Given the description of an element on the screen output the (x, y) to click on. 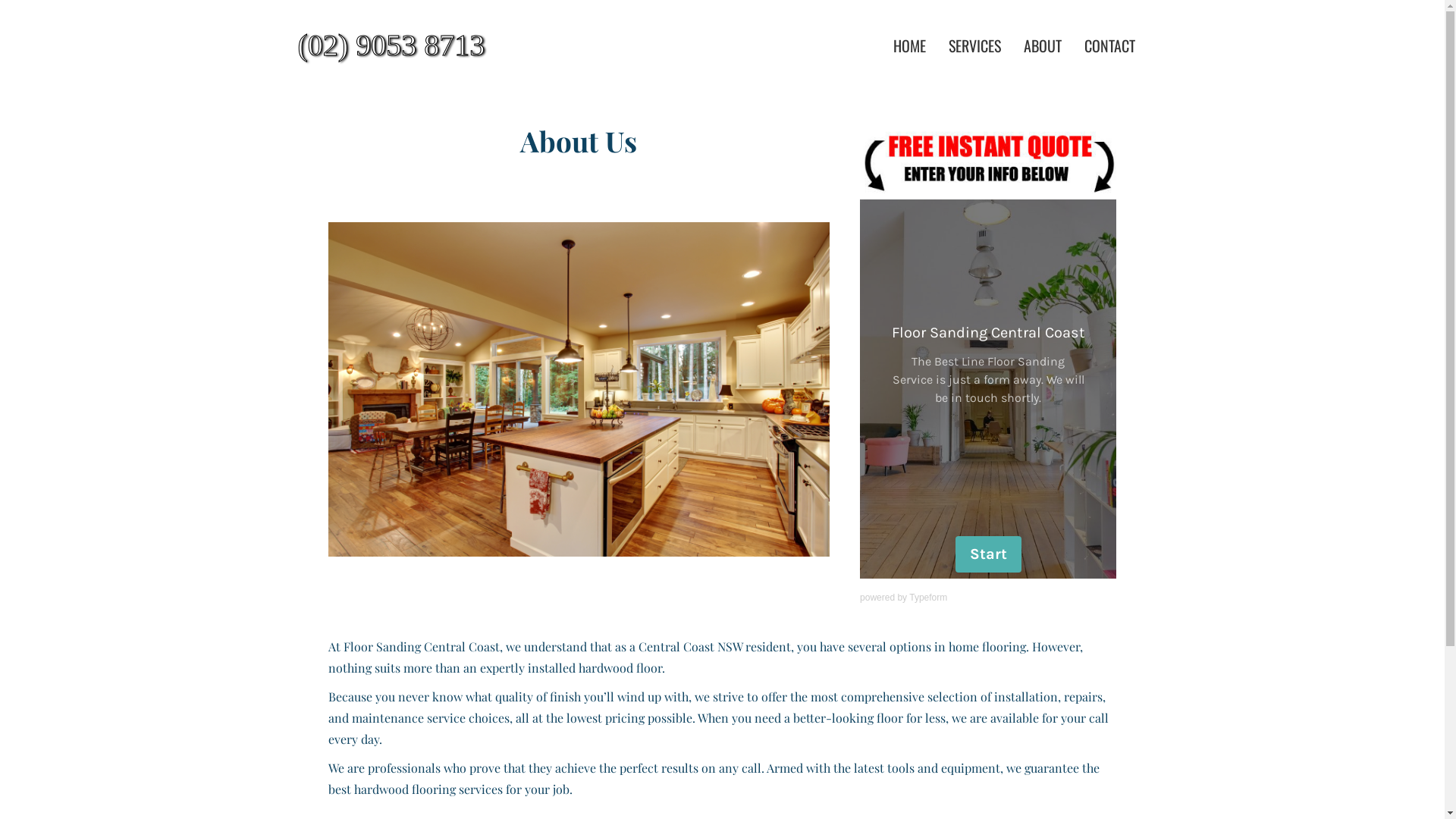
Typeform Element type: text (928, 597)
central coast floor sanding Element type: hover (578, 389)
CONTACT Element type: text (1109, 45)
HOME Element type: text (909, 45)
bannerred_2 Element type: hover (987, 160)
typeform-embed Element type: hover (987, 388)
SERVICES Element type: text (974, 45)
ABOUT Element type: text (1042, 45)
(02) 9053 8713 Element type: text (432, 45)
